Given the description of an element on the screen output the (x, y) to click on. 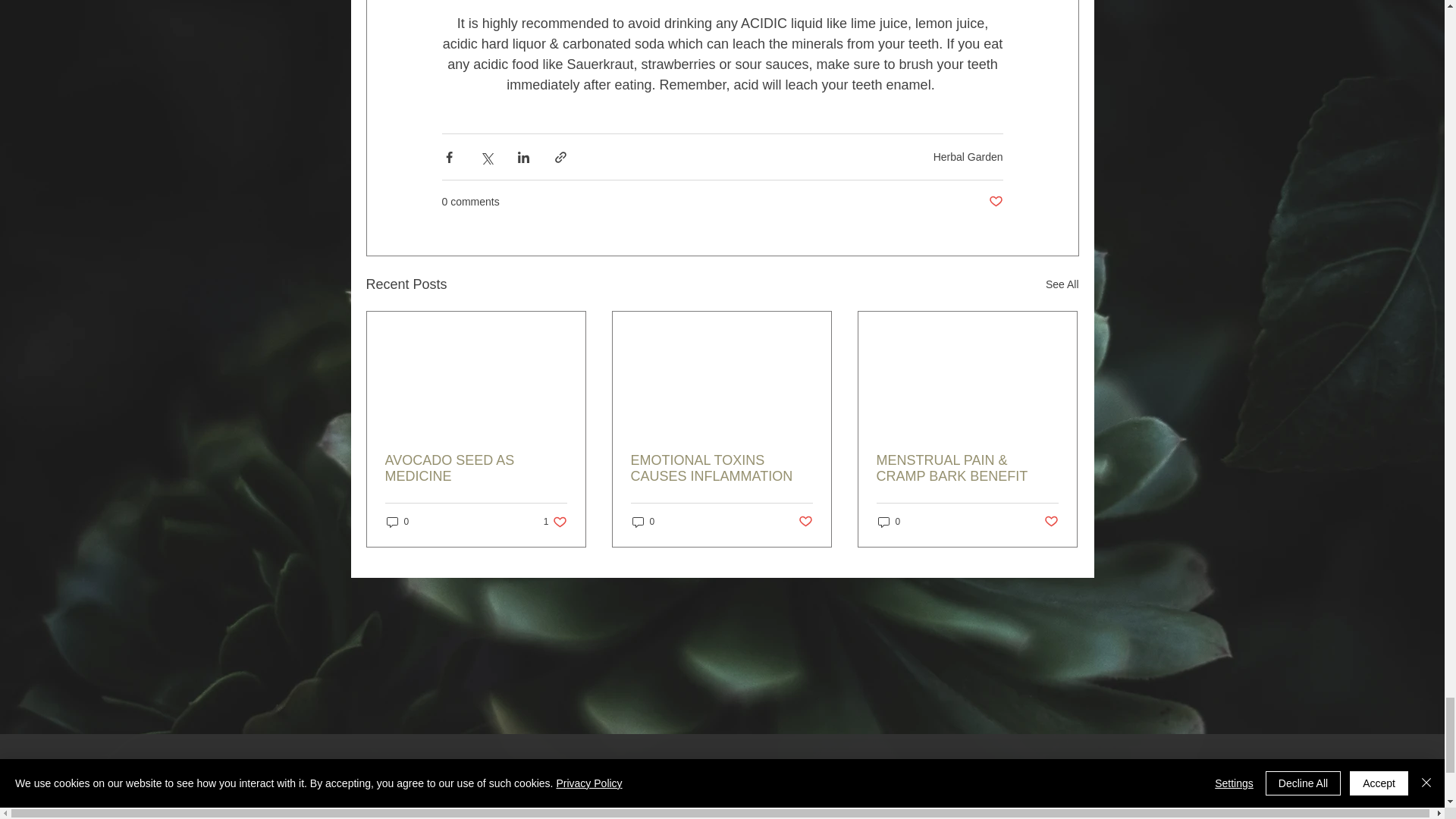
0 (643, 522)
Herbal Garden (968, 156)
0 (397, 522)
AVOCADO SEED AS MEDICINE (476, 468)
See All (1061, 284)
Post not marked as liked (995, 201)
EMOTIONAL TOXINS CAUSES INFLAMMATION (721, 468)
